Given the description of an element on the screen output the (x, y) to click on. 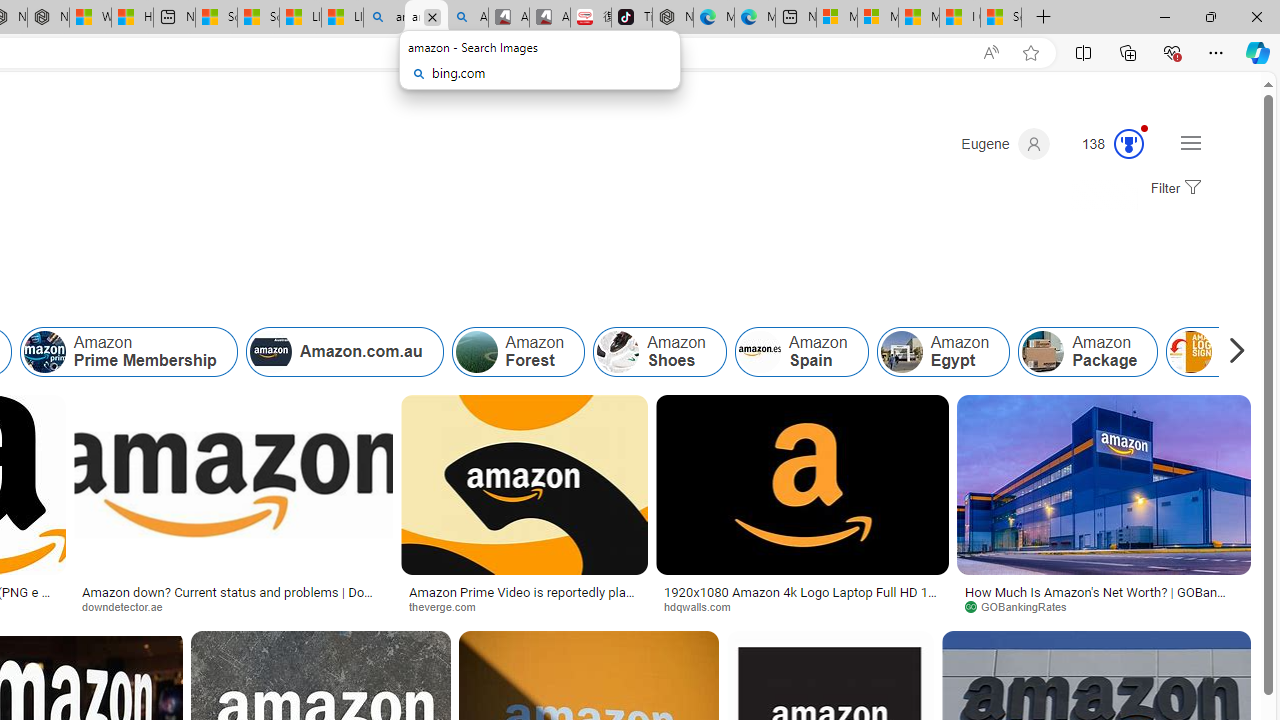
Amazon Prime Membership (44, 351)
Amazon Forest (475, 351)
theverge.com (524, 606)
Amazon Spain (800, 351)
